Given the description of an element on the screen output the (x, y) to click on. 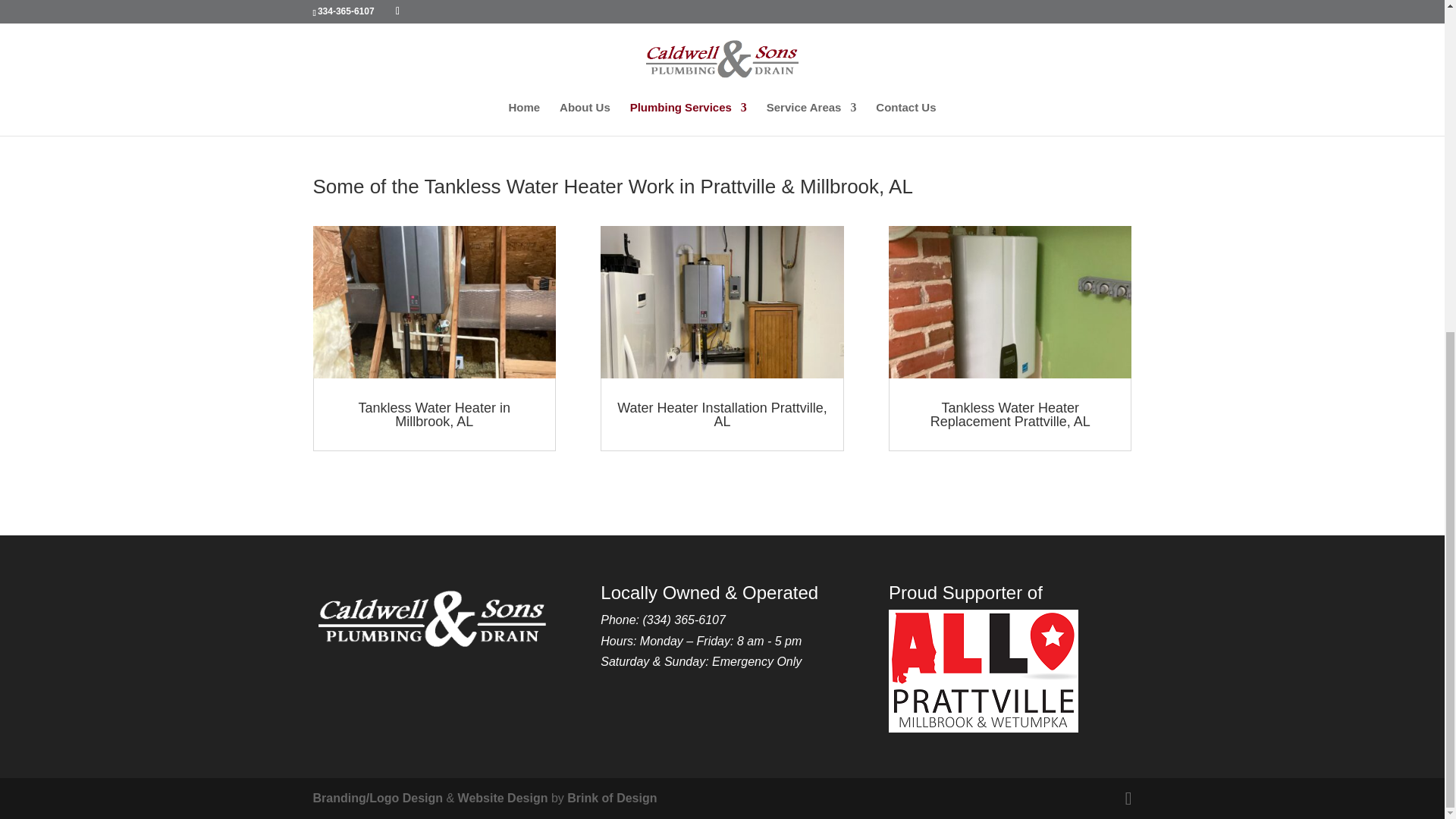
Water Heater Installation Prattville, AL (722, 414)
Tankless Water Heater in Millbrook, AL (433, 414)
Submit (1091, 34)
Brink of Design (611, 797)
Website Design (503, 797)
Tankless Water Heater Replacement Prattville, AL (1010, 414)
